Given the description of an element on the screen output the (x, y) to click on. 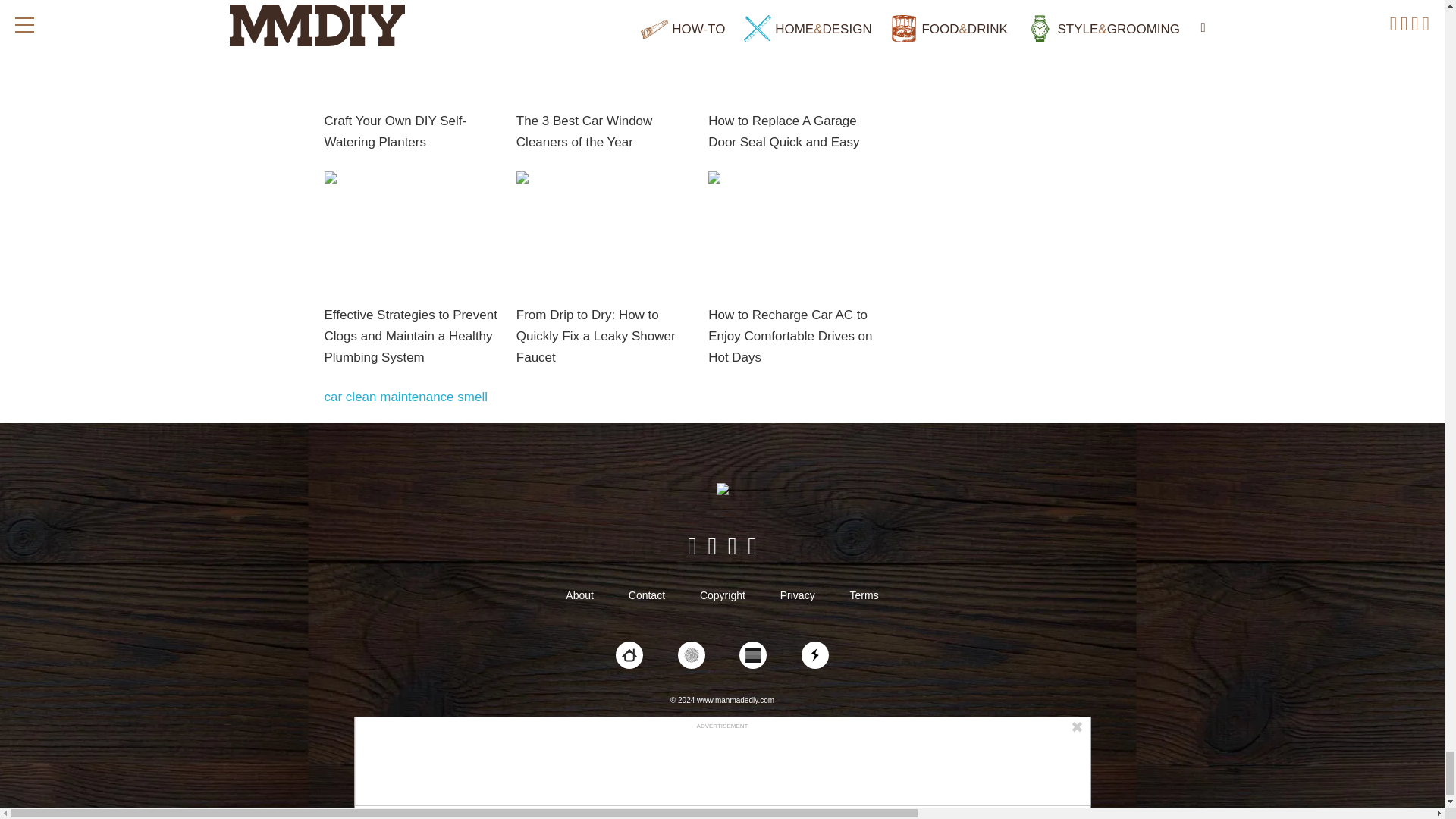
Slow Robot (815, 654)
Decoist (629, 654)
I Waste So Much Time (753, 654)
Higher Perspectives (691, 654)
